Given the description of an element on the screen output the (x, y) to click on. 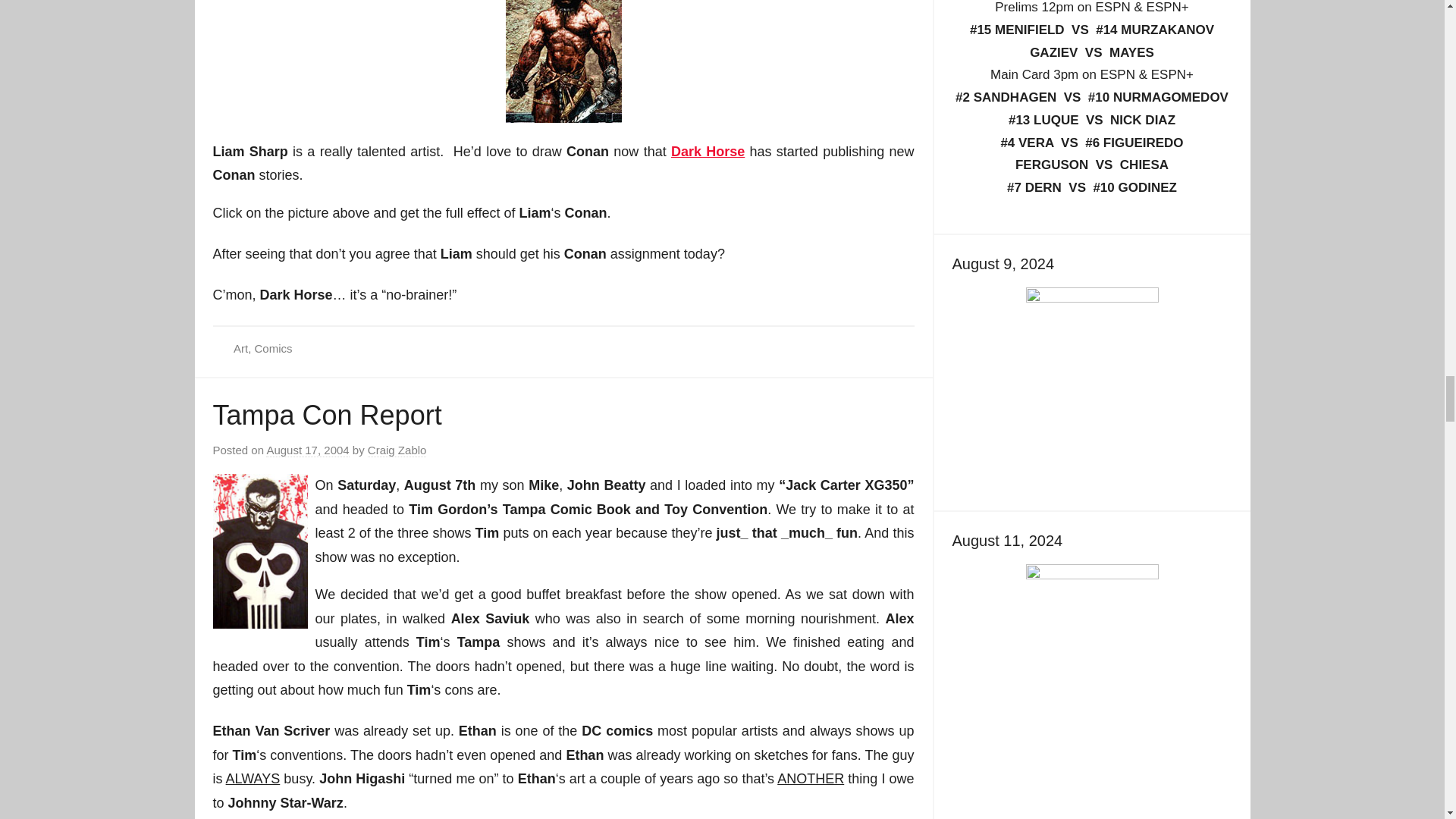
View all posts by Craig Zablo (397, 450)
